Given the description of an element on the screen output the (x, y) to click on. 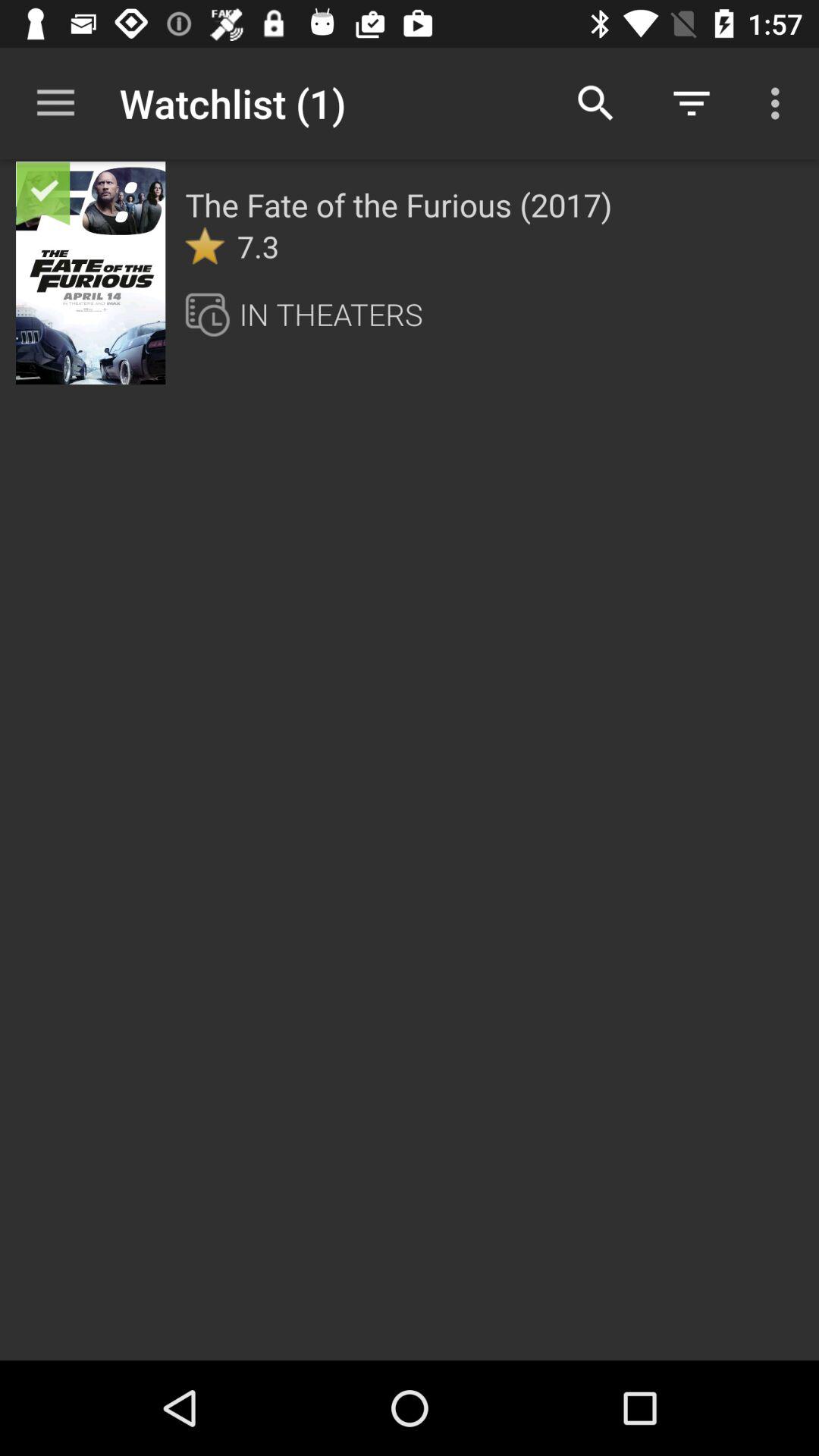
press the item next to the fate of icon (90, 272)
